Given the description of an element on the screen output the (x, y) to click on. 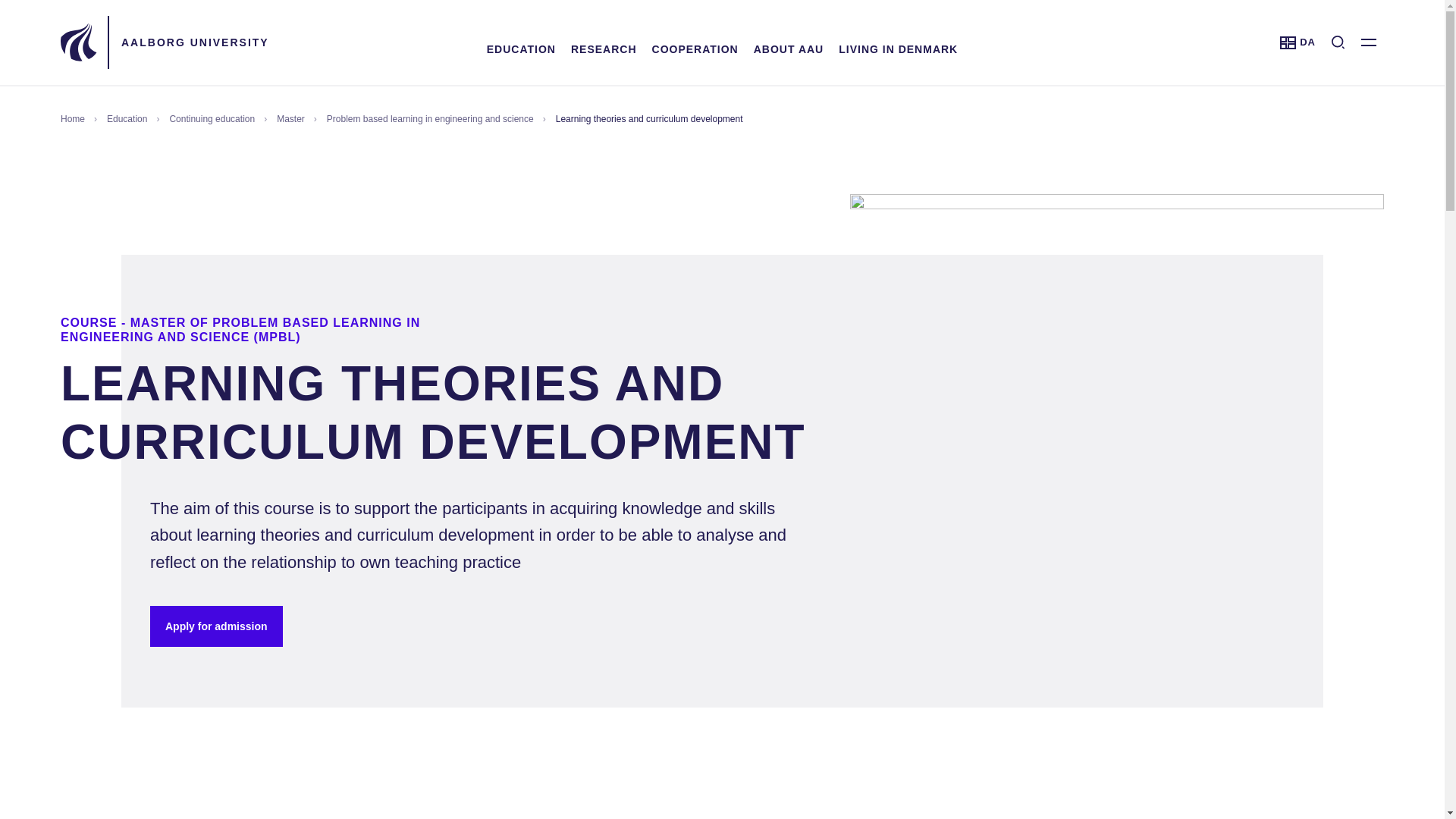
Education (1297, 42)
ABOUT AAU (521, 49)
RESEARCH (789, 49)
EDUCATION (603, 49)
LIVING IN DENMARK (521, 49)
Cooperation (898, 49)
COOPERATION (695, 49)
Jump to content (695, 49)
